Given the description of an element on the screen output the (x, y) to click on. 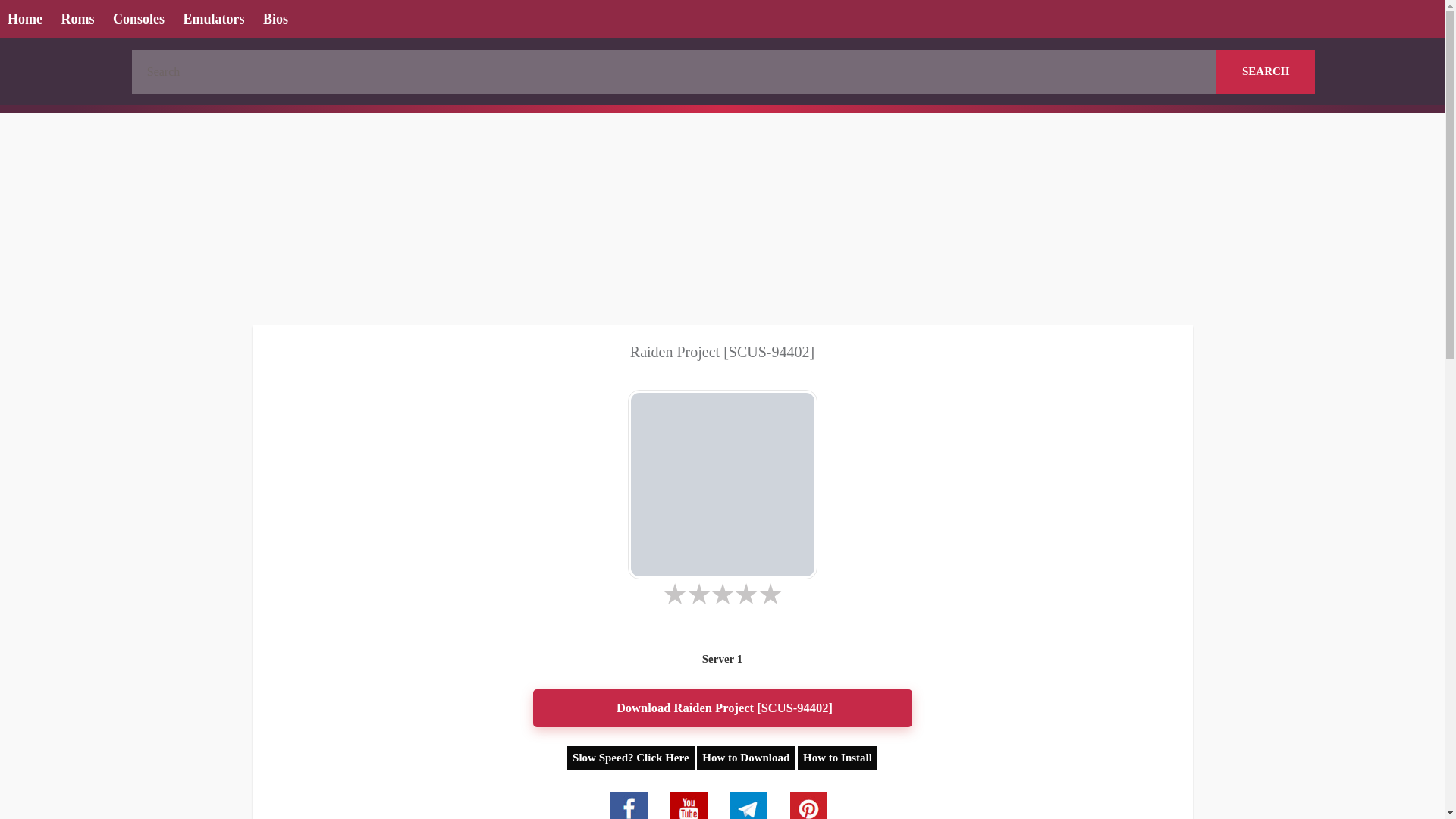
How to Install (837, 757)
Roms (76, 19)
Bios (275, 19)
SEARCH (1264, 71)
Slow Speed? Click Here (630, 757)
Home (24, 19)
Emulators (213, 19)
Slow Speed? Click Here (632, 757)
How to Download (745, 757)
Consoles (137, 19)
